Given the description of an element on the screen output the (x, y) to click on. 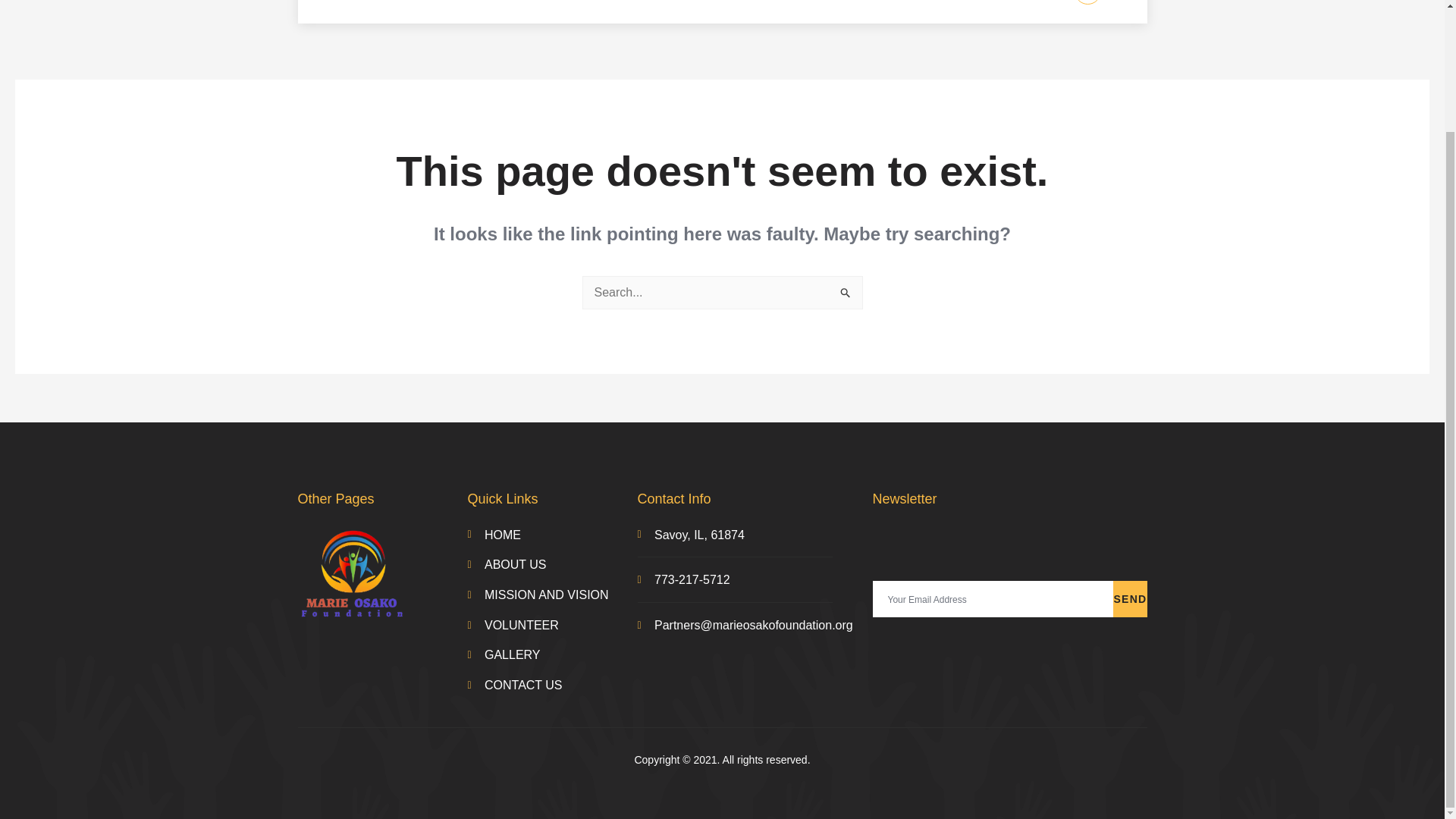
ABOUT US (552, 564)
GALLERY (801, 11)
MISSION AND VISION (533, 11)
HOME (350, 11)
HOME (552, 535)
CONTACT US (895, 11)
CONTACT US (552, 685)
SHOP (632, 11)
SEND (1130, 598)
VOLUNTEER (708, 11)
GALLERY (552, 654)
MISSION AND VISION (552, 594)
VOLUNTEER (552, 625)
ABOUT US (422, 11)
